Given the description of an element on the screen output the (x, y) to click on. 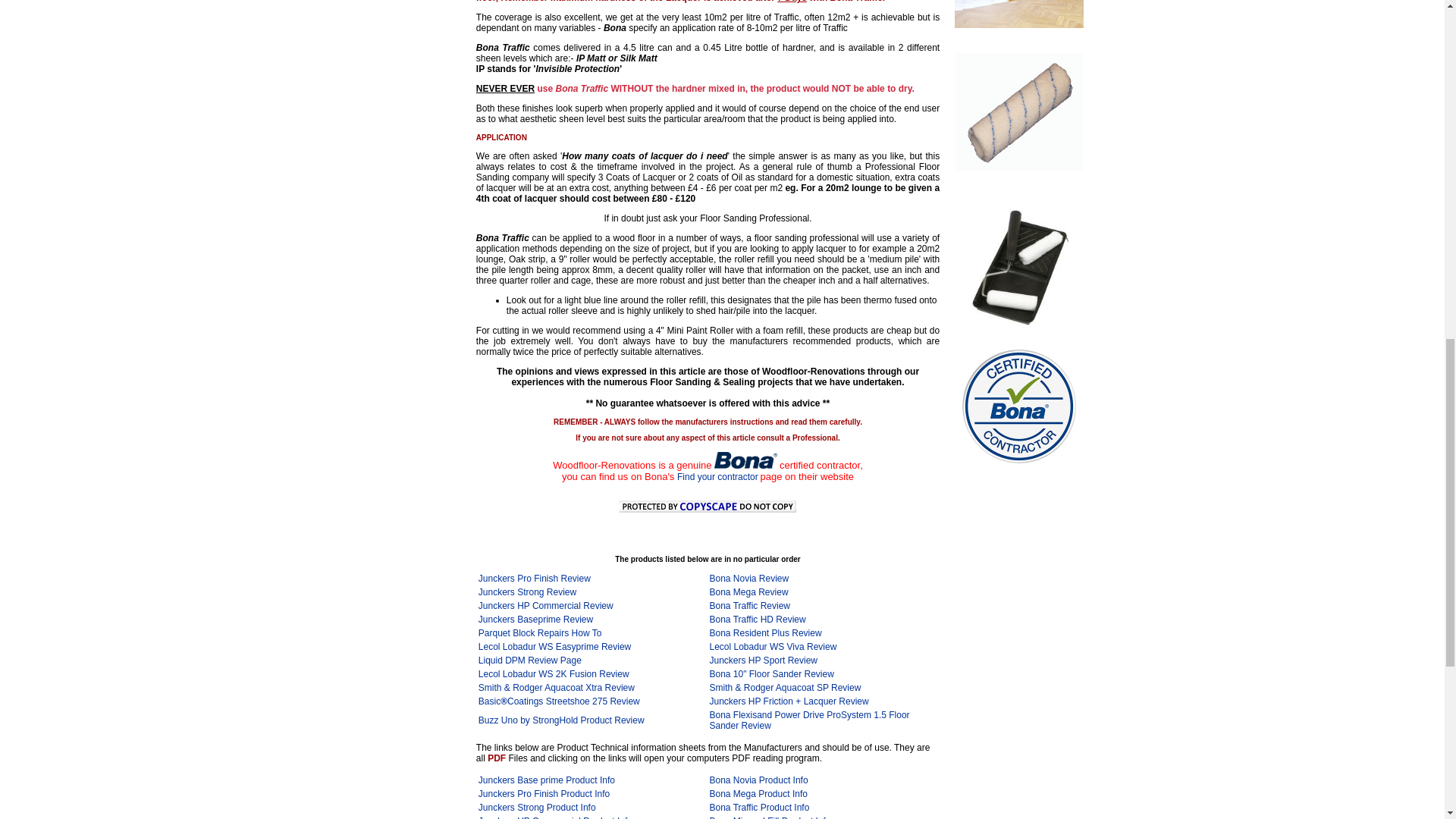
Find your contractor (717, 476)
Bona Mega Review (748, 592)
Junckers Strong Review (527, 592)
Bona Novia Review (749, 578)
Junckers Pro Finish Review (535, 578)
Junckers HP Commercial Review (545, 605)
